Given the description of an element on the screen output the (x, y) to click on. 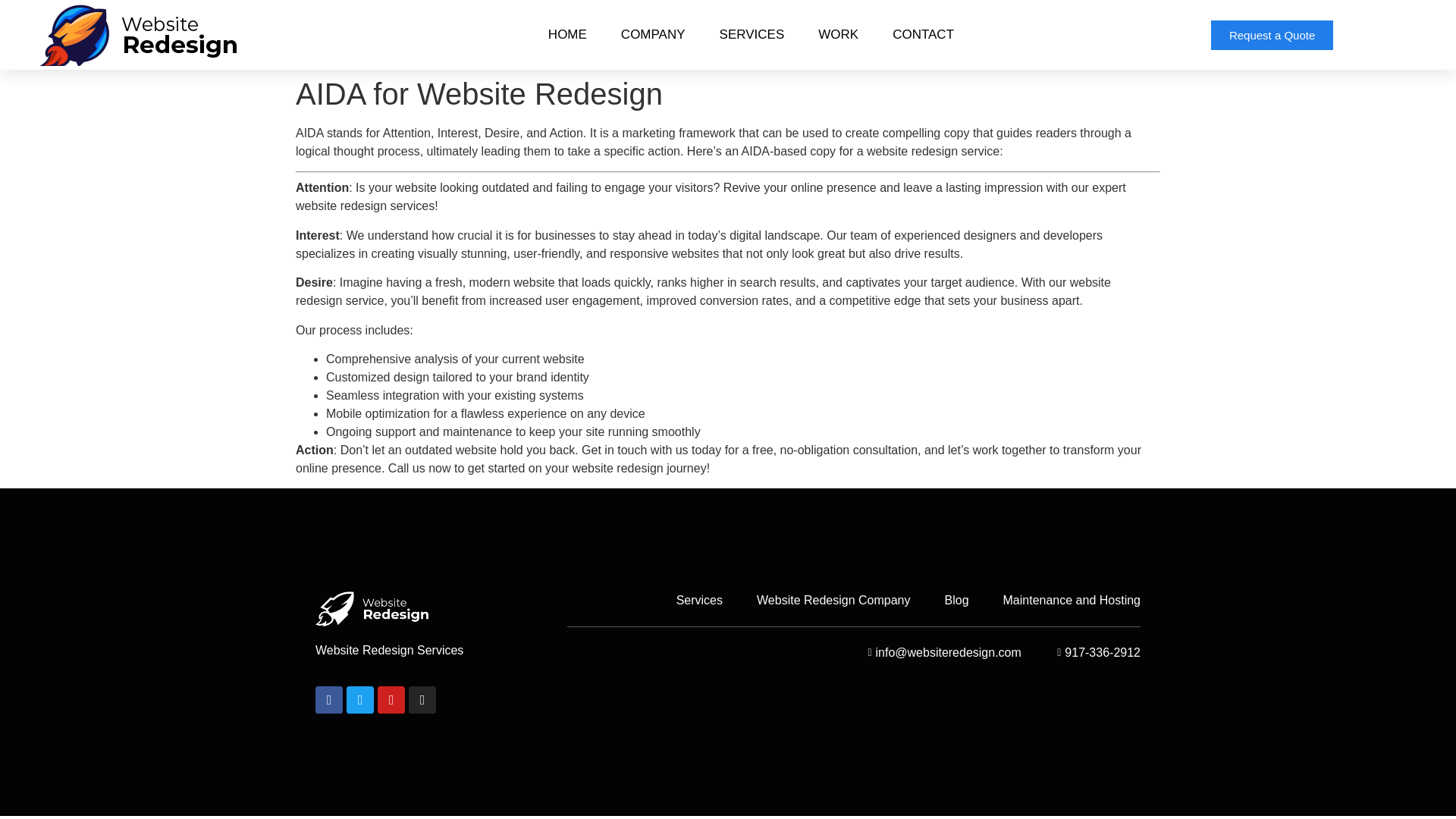
HOME (567, 34)
COMPANY (652, 34)
Services (699, 600)
SERVICES (751, 34)
Website Redesign Company (833, 600)
WORK (838, 34)
Request a Quote (1272, 34)
917-336-2912 (1094, 652)
Website Redesign Services (389, 649)
CONTACT (923, 34)
Blog (956, 600)
